Given the description of an element on the screen output the (x, y) to click on. 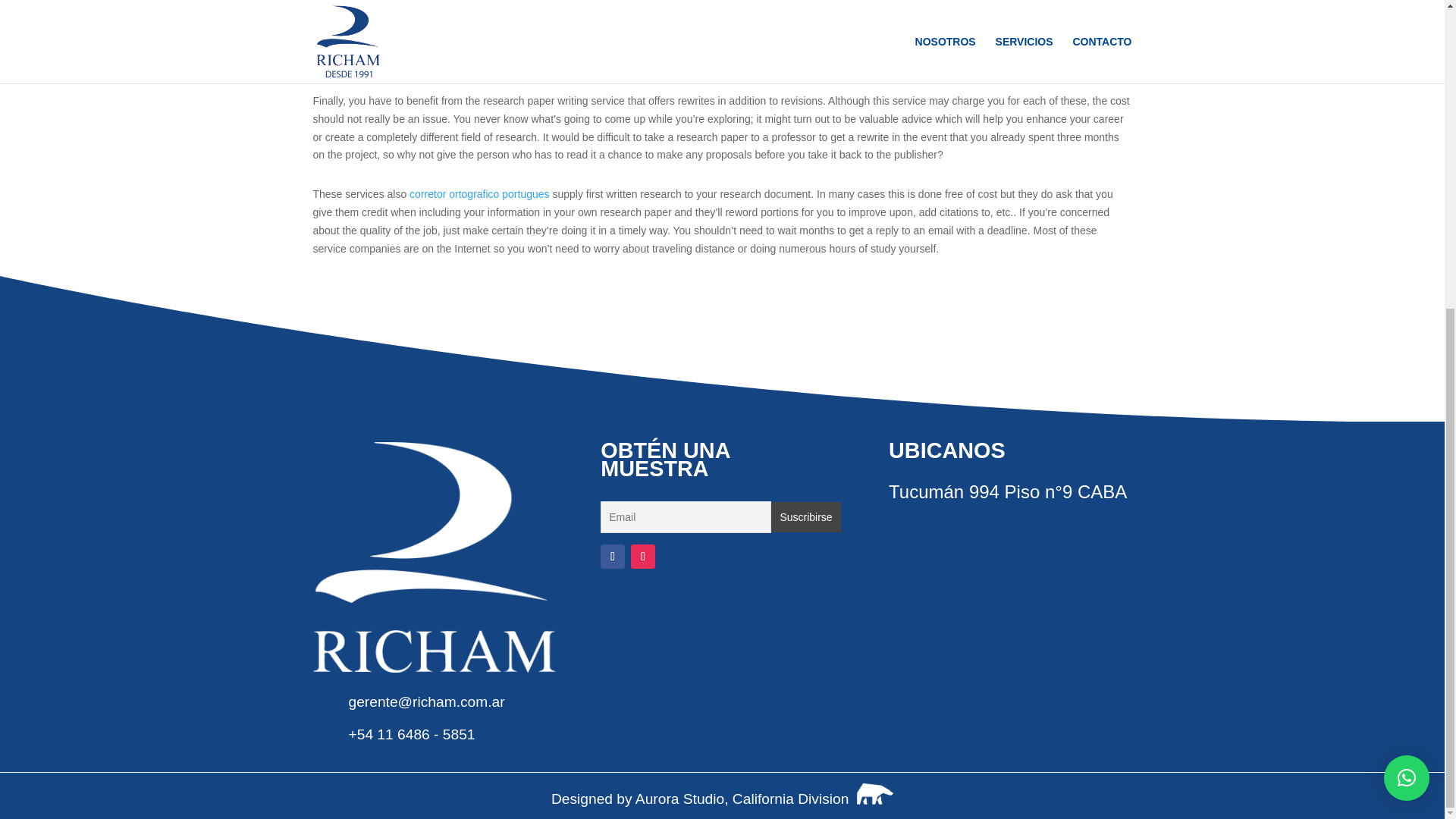
corretor ortografico portugues (478, 193)
Suscribirse (806, 517)
Seguir en Facebook (611, 556)
logo blanco 1 (433, 556)
Seguir en Instagram (642, 556)
